Given the description of an element on the screen output the (x, y) to click on. 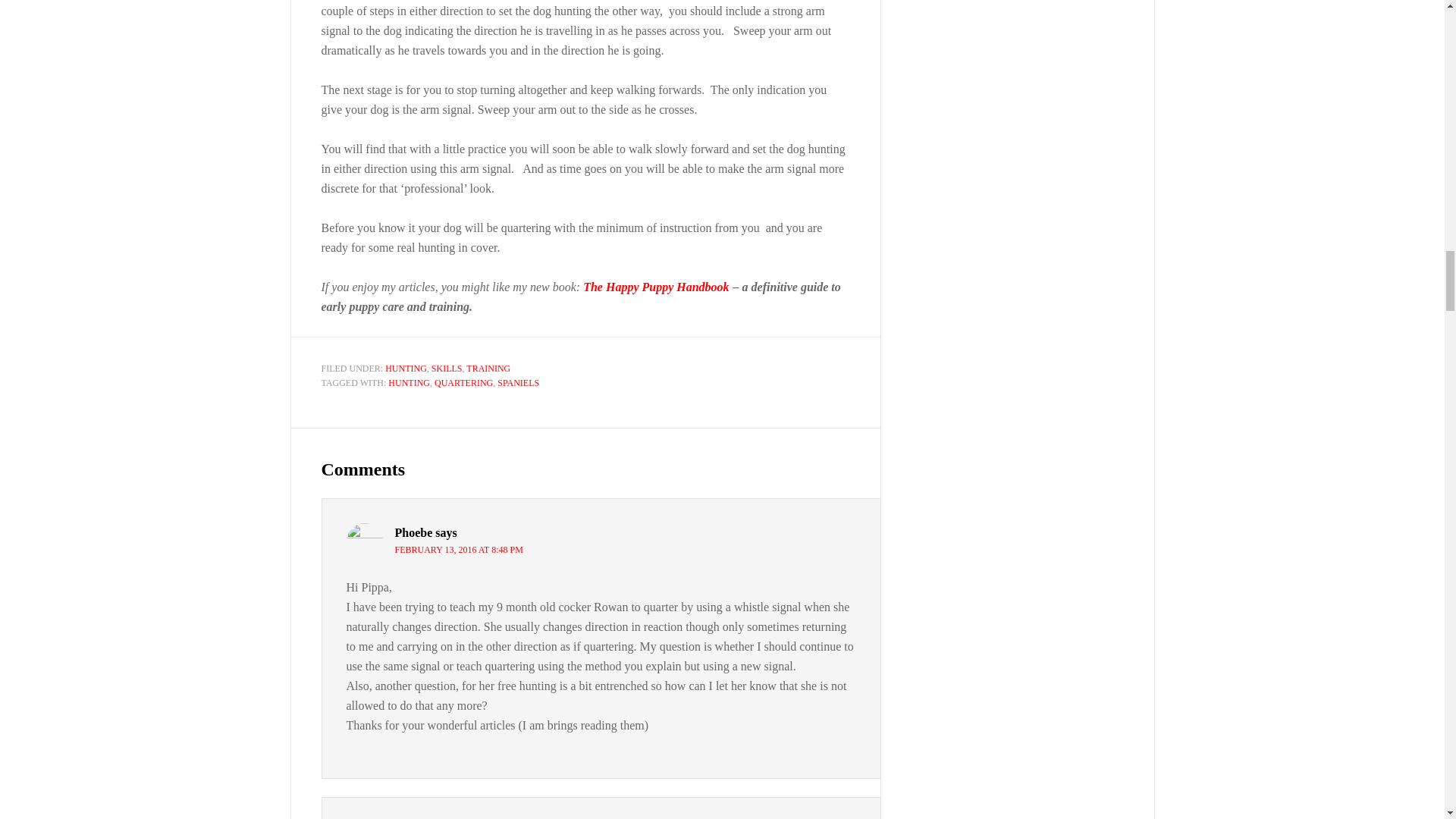
SKILLS (446, 367)
The Happy Puppy Handbook (656, 286)
HUNTING (408, 382)
TRAINING (488, 367)
SPANIELS (517, 382)
FEBRUARY 13, 2016 AT 8:48 PM (458, 549)
HUNTING (405, 367)
QUARTERING (463, 382)
